Given the description of an element on the screen output the (x, y) to click on. 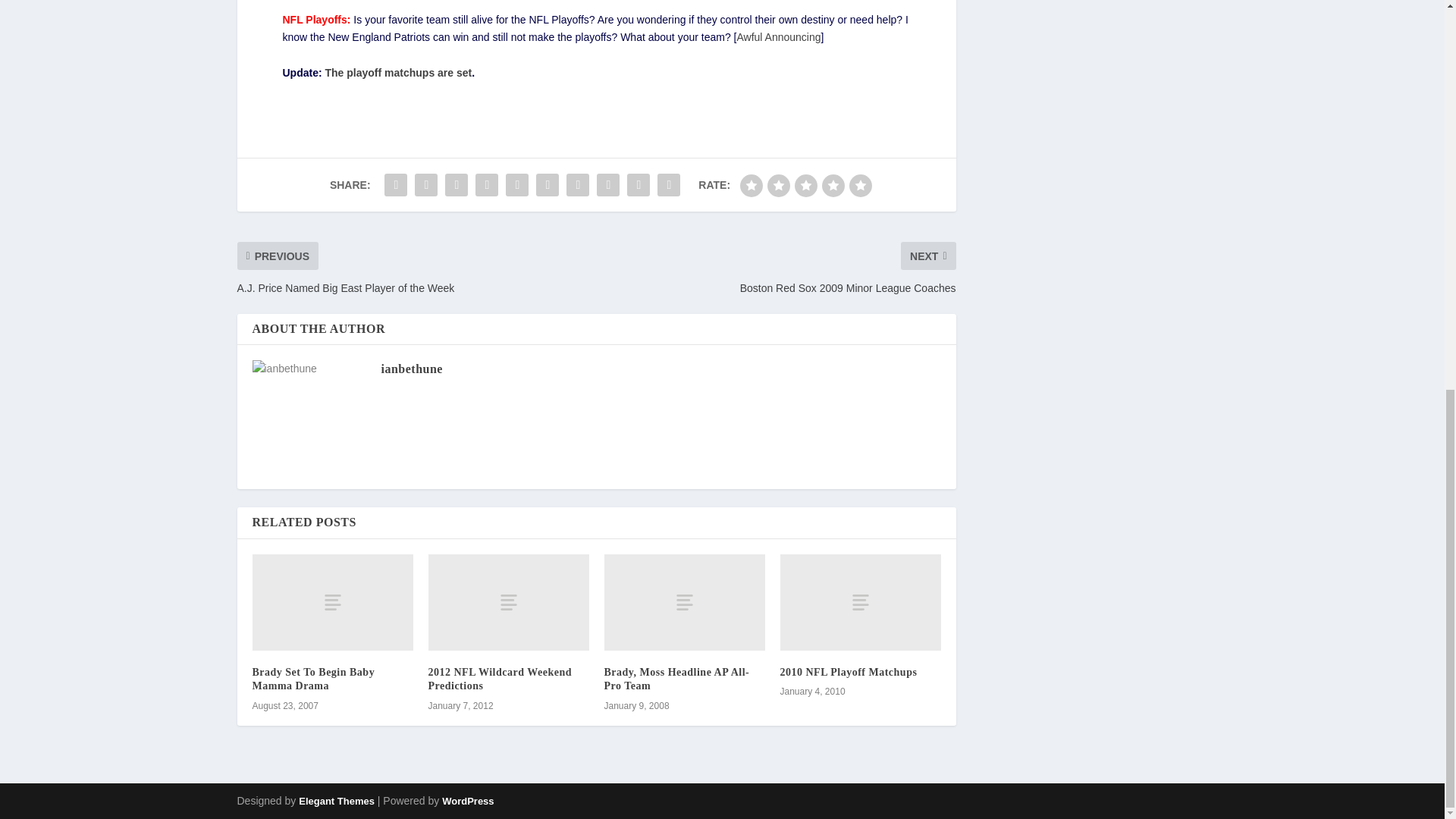
Share "NFL Playoff Scenarios Week 17" via LinkedIn (547, 184)
bad (750, 185)
Share "NFL Playoff Scenarios Week 17" via Tumblr (486, 184)
Share "NFL Playoff Scenarios Week 17" via Facebook (395, 184)
Share "NFL Playoff Scenarios Week 17" via Twitter (425, 184)
Share "NFL Playoff Scenarios Week 17" via Print (668, 184)
Share "NFL Playoff Scenarios Week 17" via Buffer (577, 184)
Share "NFL Playoff Scenarios Week 17" via Email (638, 184)
Share "NFL Playoff Scenarios Week 17" via Pinterest (517, 184)
Share "NFL Playoff Scenarios Week 17" via Stumbleupon (607, 184)
